Given the description of an element on the screen output the (x, y) to click on. 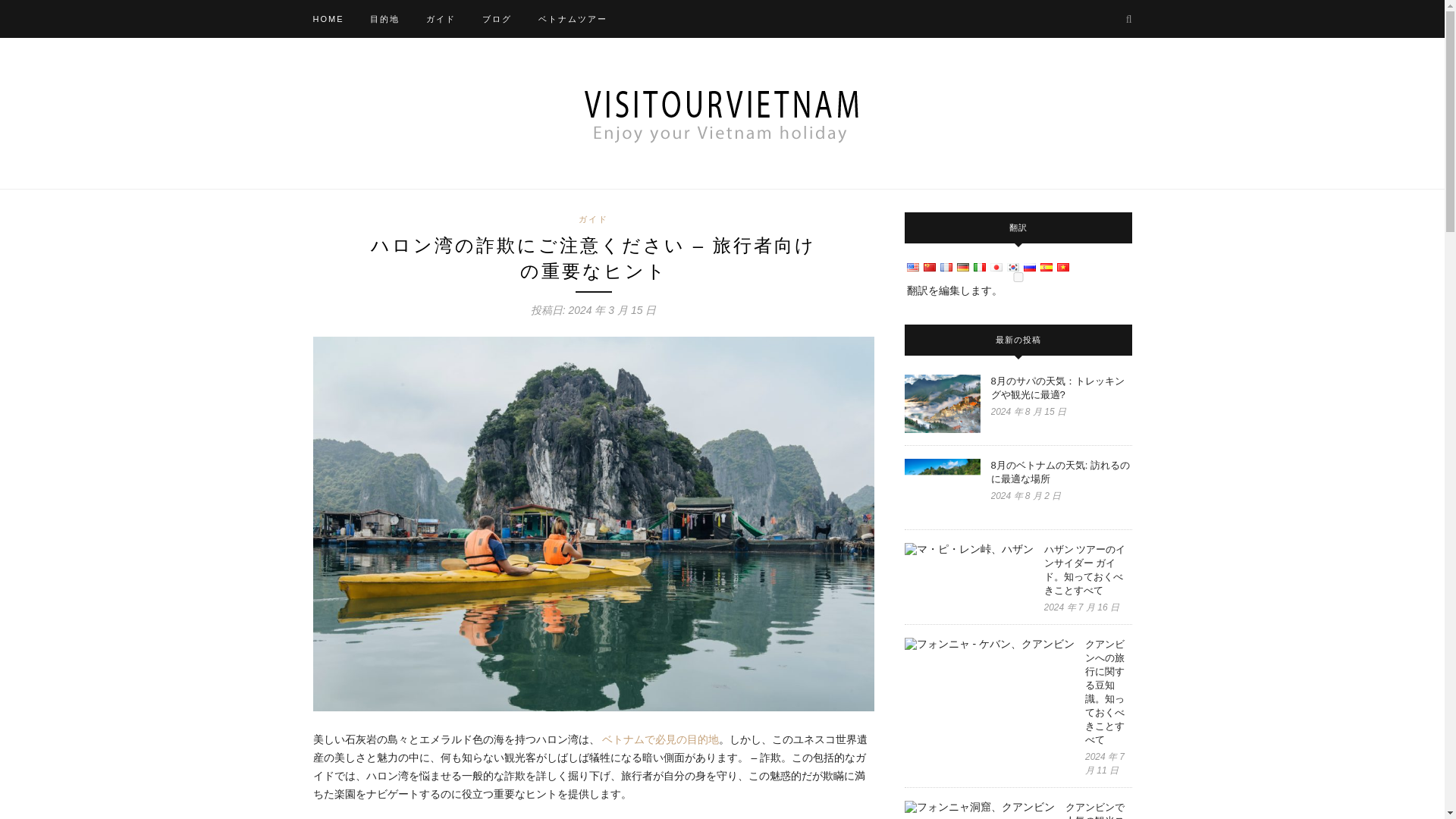
English (912, 266)
Deutsch (962, 266)
1 (1017, 276)
Italiano (979, 266)
